Given the description of an element on the screen output the (x, y) to click on. 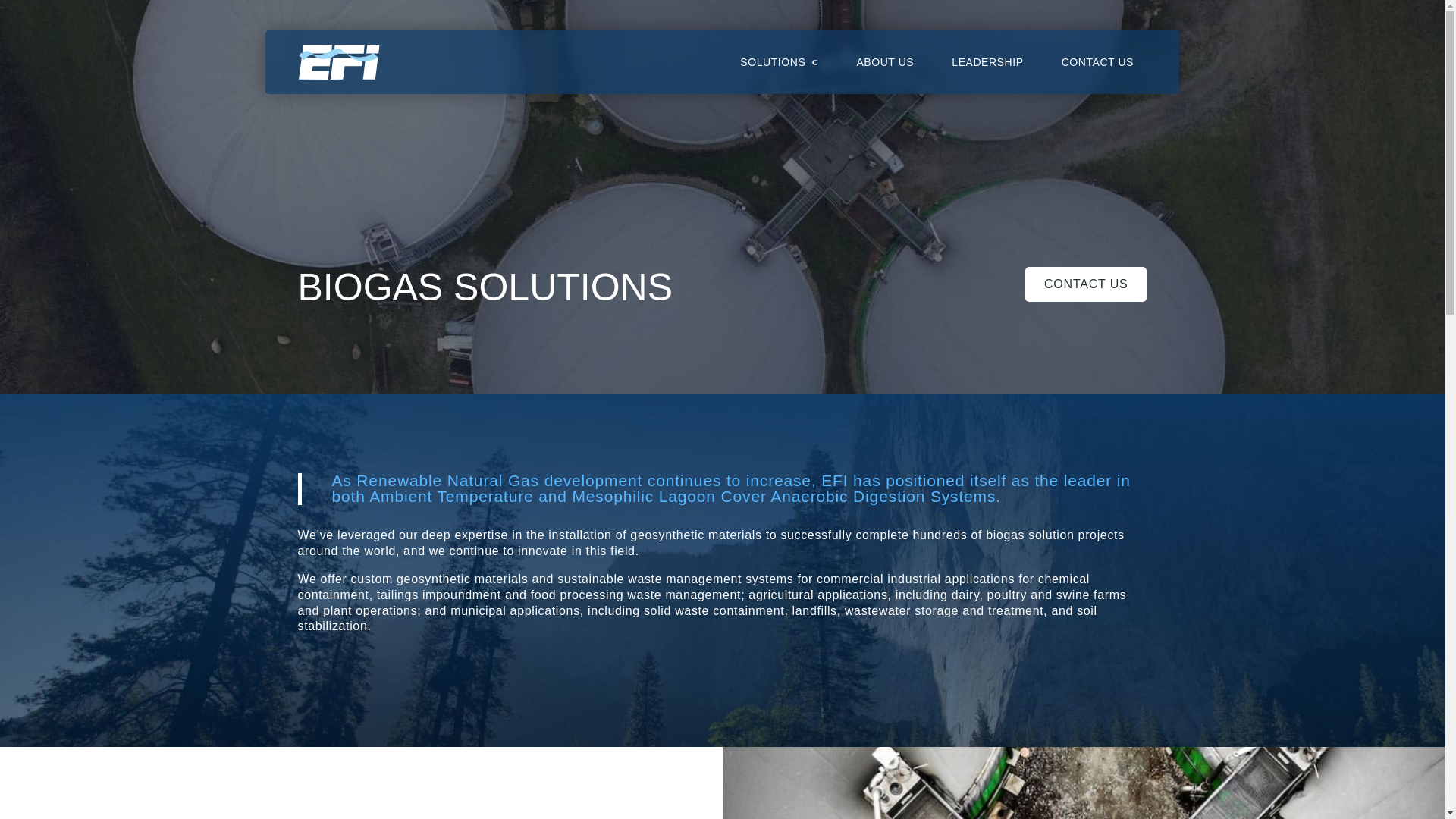
ABOUT US (885, 75)
SOLUTIONS (778, 75)
CONTACT US (1086, 284)
CONTACT US (1097, 75)
LEADERSHIP (987, 75)
